Given the description of an element on the screen output the (x, y) to click on. 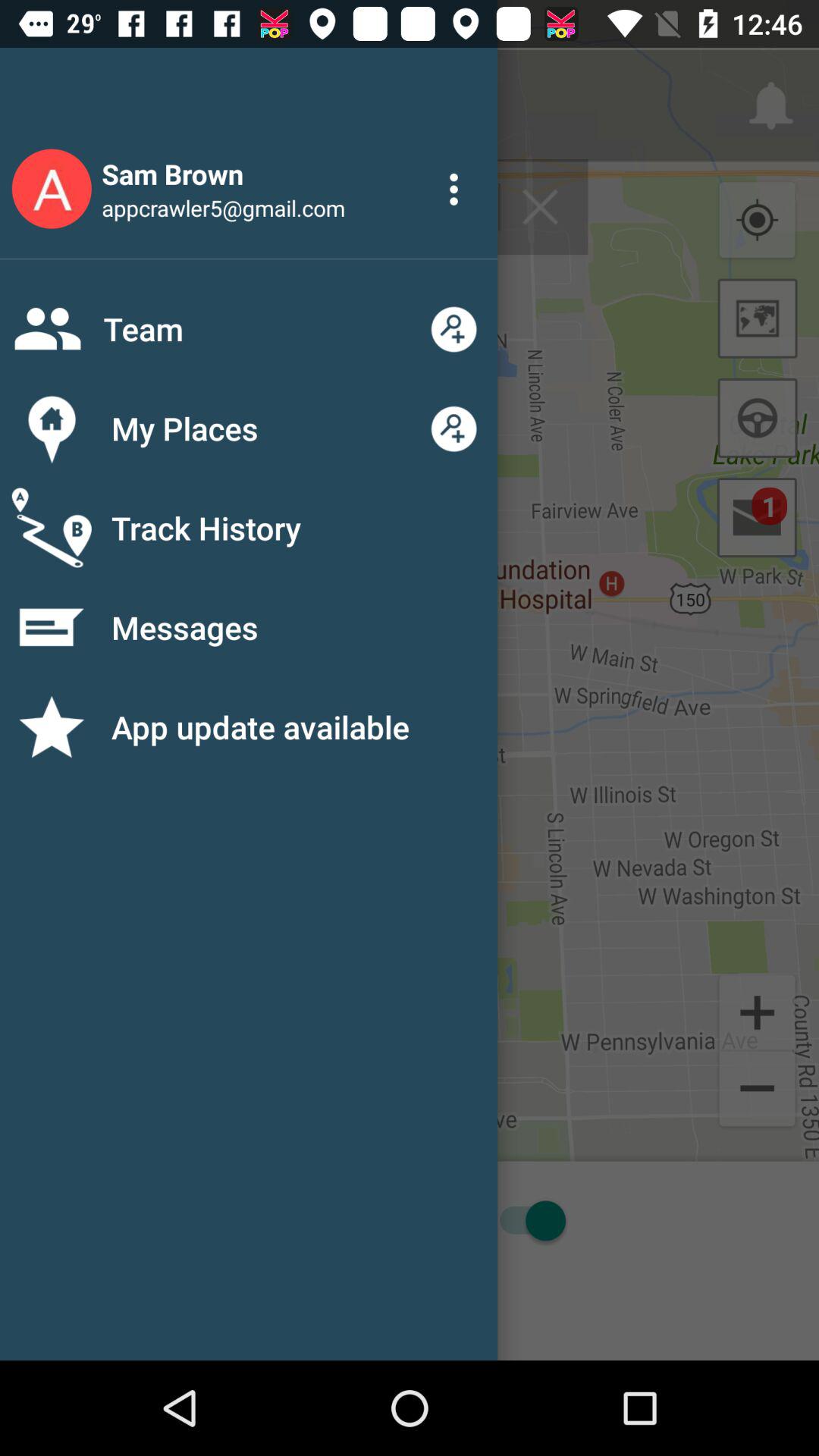
click the button below the compass icon on the web page (757, 318)
click the button on the right next to the button my places on the web page (453, 428)
click on  button which is above  button (757, 1010)
click the zoom out button on the web page (757, 1090)
